Given the description of an element on the screen output the (x, y) to click on. 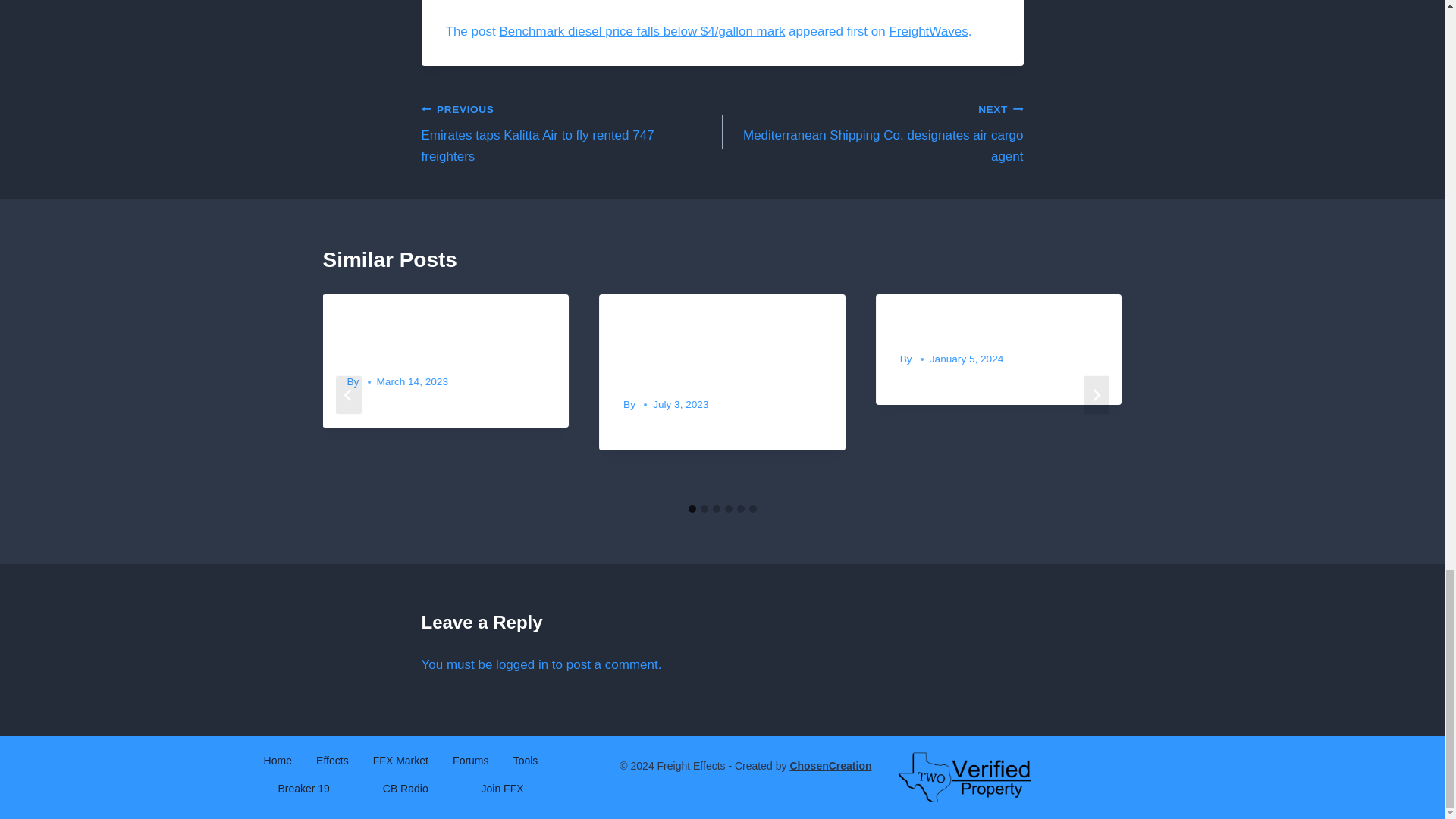
FreightWaves (872, 132)
